Given the description of an element on the screen output the (x, y) to click on. 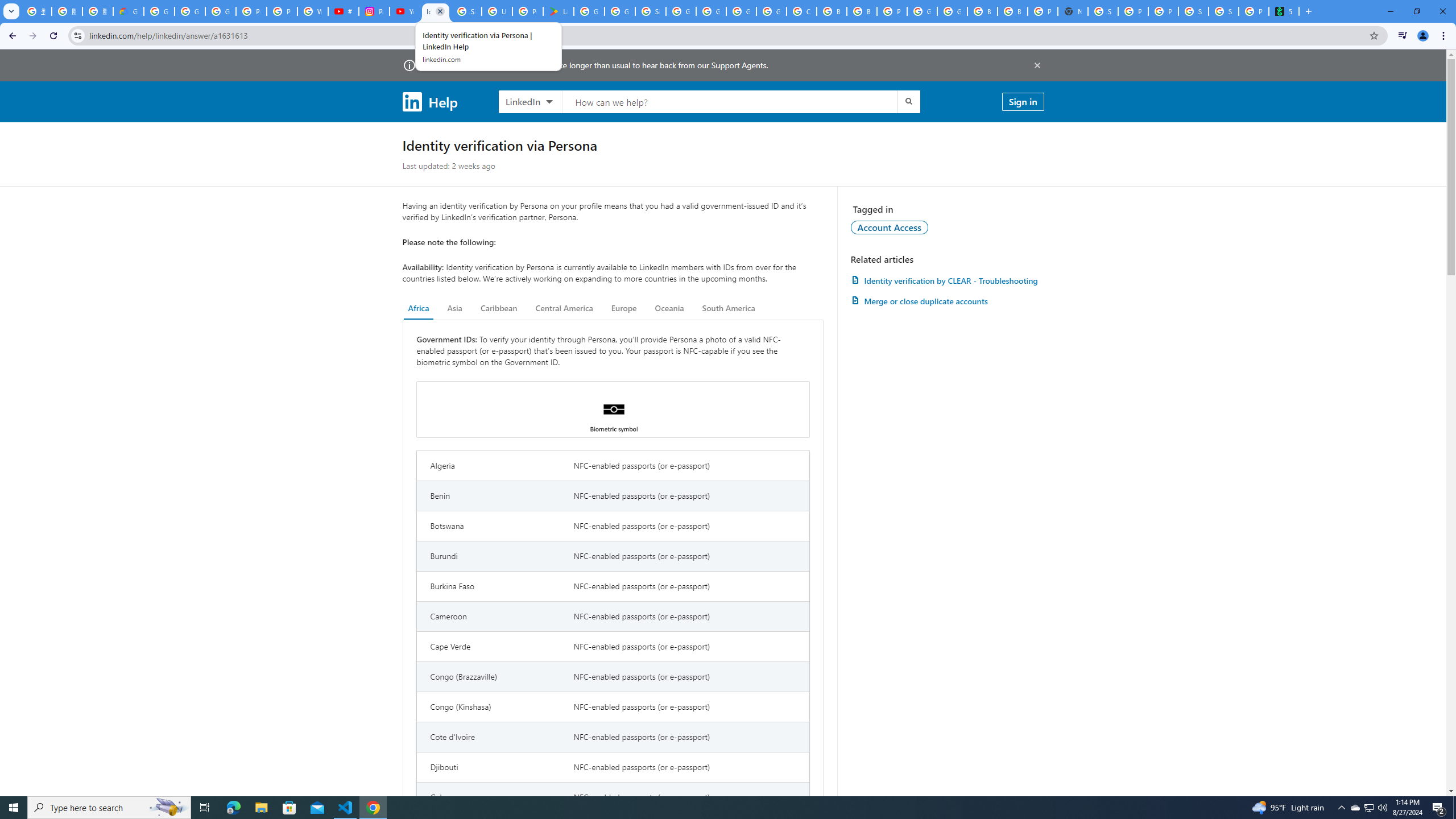
Identity verification by CLEAR - Troubleshooting (946, 280)
Close (440, 11)
Help (429, 101)
View site information (77, 35)
#nbabasketballhighlights - YouTube (343, 11)
Privacy Help Center - Policies Help (282, 11)
Caribbean (499, 308)
Google Cloud Platform (951, 11)
Europe (623, 308)
AutomationID: topic-link-a151002 (889, 227)
You (1422, 35)
Google Workspace - Specific Terms (619, 11)
